Given the description of an element on the screen output the (x, y) to click on. 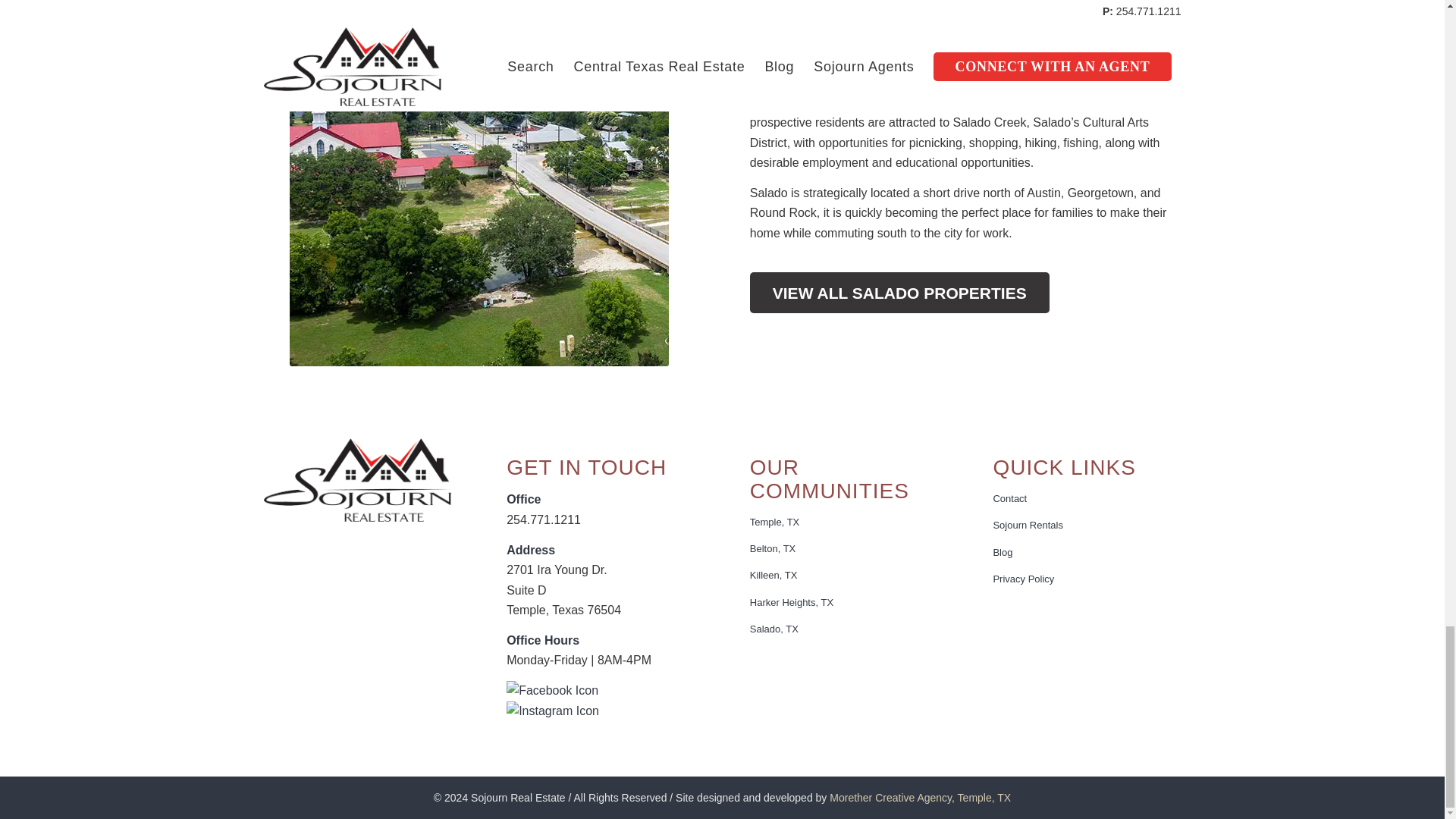
Privacy Policy (1086, 579)
Killeen, TX (843, 575)
Belton, TX (843, 549)
Contact (1086, 499)
Salado, TX (843, 629)
Sojourn Rentals (1086, 525)
Temple, TX (843, 522)
Blog (1086, 552)
Morether Creative Agency, Temple, TX (919, 797)
